Given the description of an element on the screen output the (x, y) to click on. 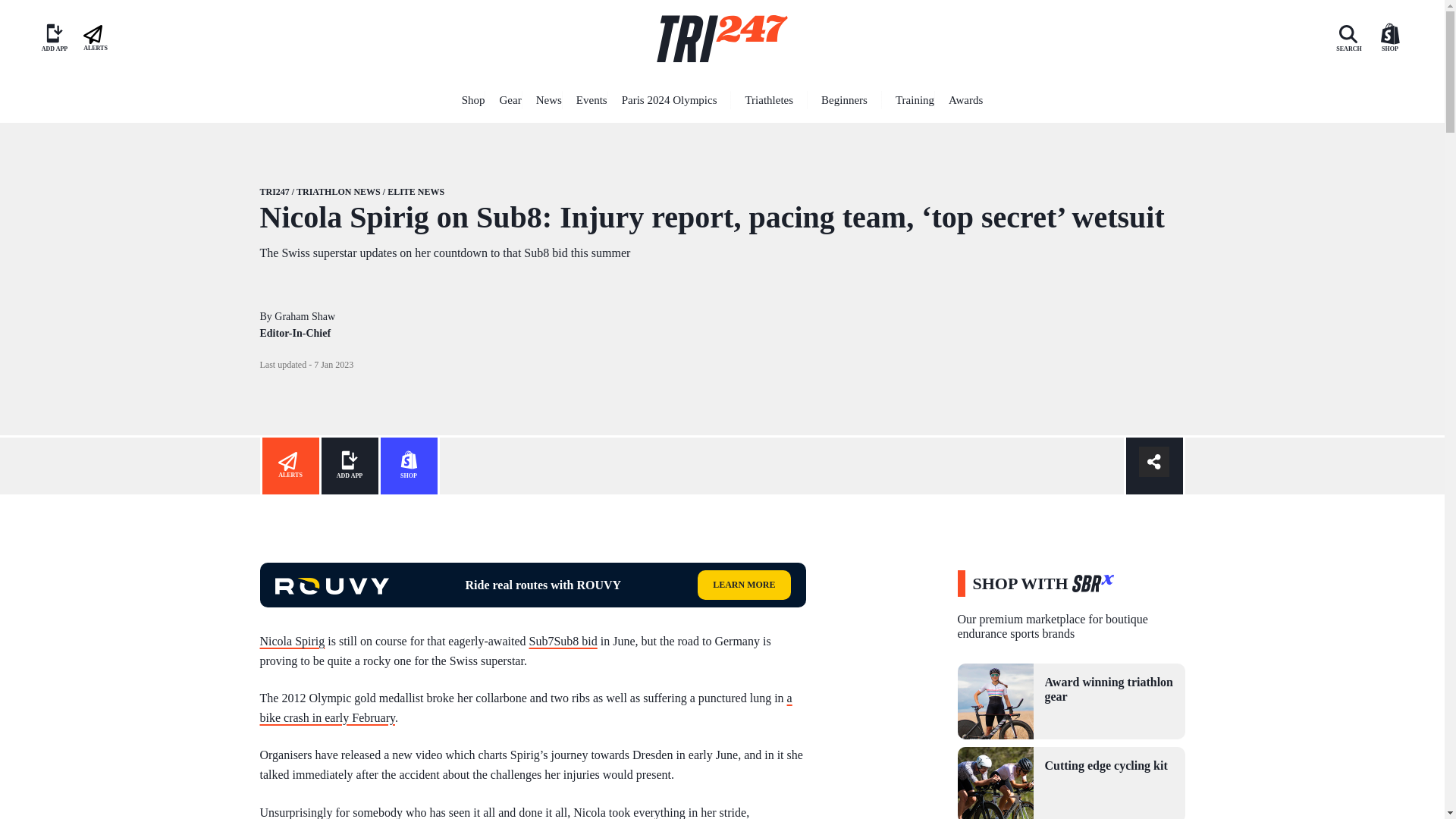
Rouvy Logo (331, 586)
TRI247 (721, 38)
